Given the description of an element on the screen output the (x, y) to click on. 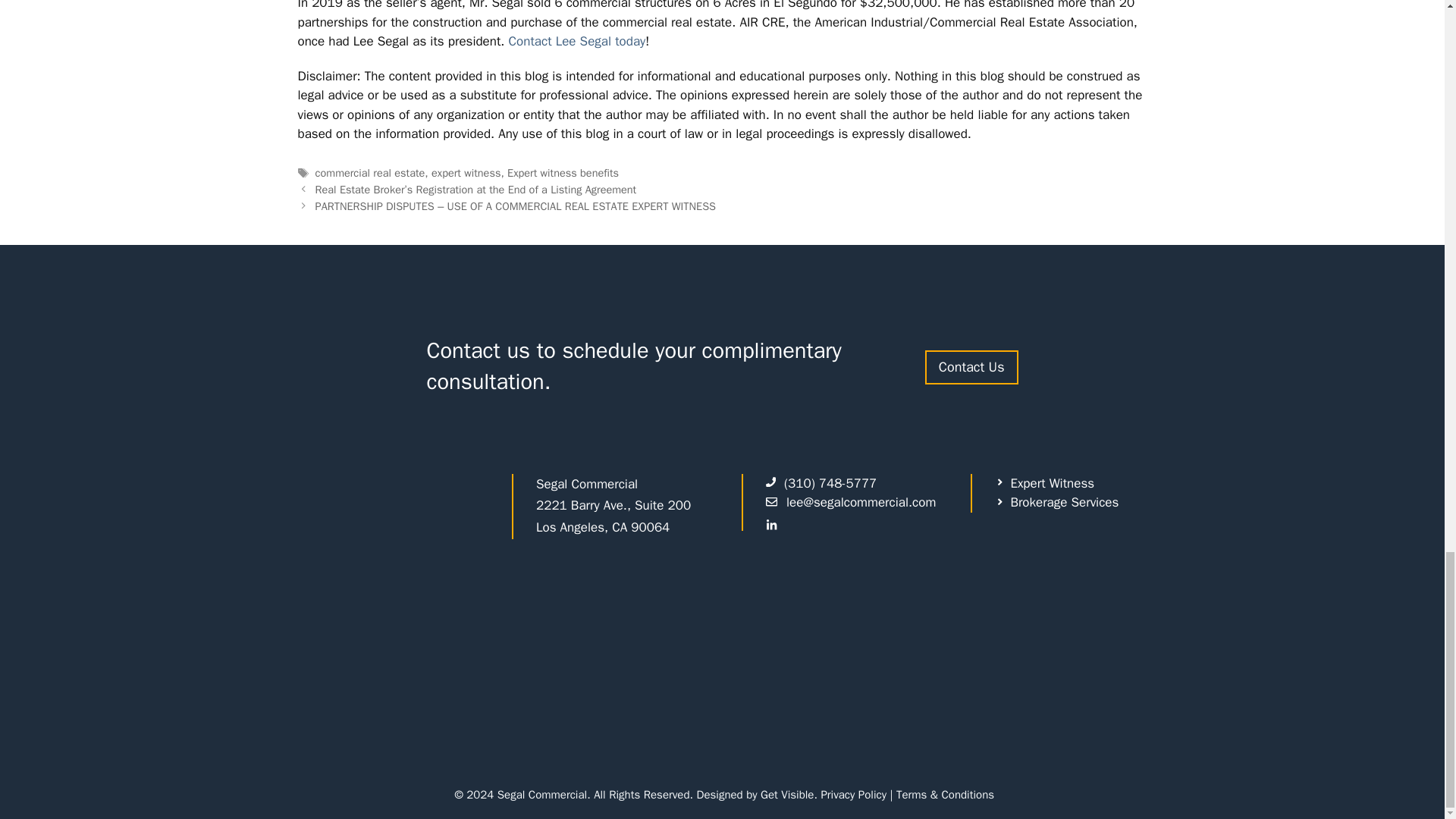
Expert Witness (1044, 483)
Brokerage Services (1056, 502)
commercial real estate (370, 172)
Contact Lee Segal today (577, 41)
expert witness (465, 172)
Contact Us (970, 367)
Expert witness benefits (562, 172)
